Given the description of an element on the screen output the (x, y) to click on. 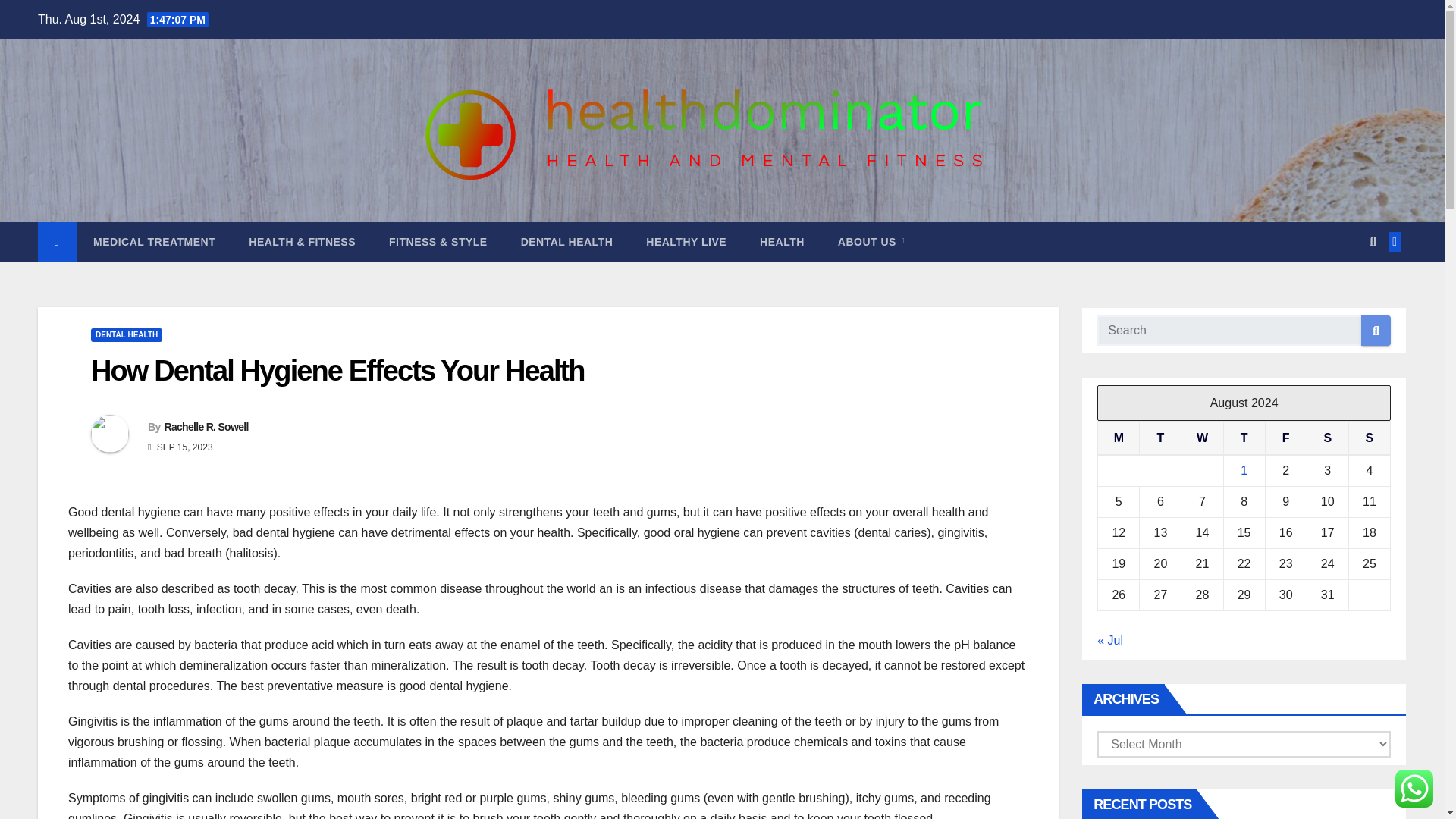
About Us (871, 241)
ABOUT US (871, 241)
Healthy Live (685, 241)
HEALTH (781, 241)
Rachelle R. Sowell (205, 426)
How Dental Hygiene Effects Your Health (337, 370)
Medical Treatment (154, 241)
HEALTHY LIVE (685, 241)
MEDICAL TREATMENT (154, 241)
DENTAL HEALTH (125, 335)
